Given the description of an element on the screen output the (x, y) to click on. 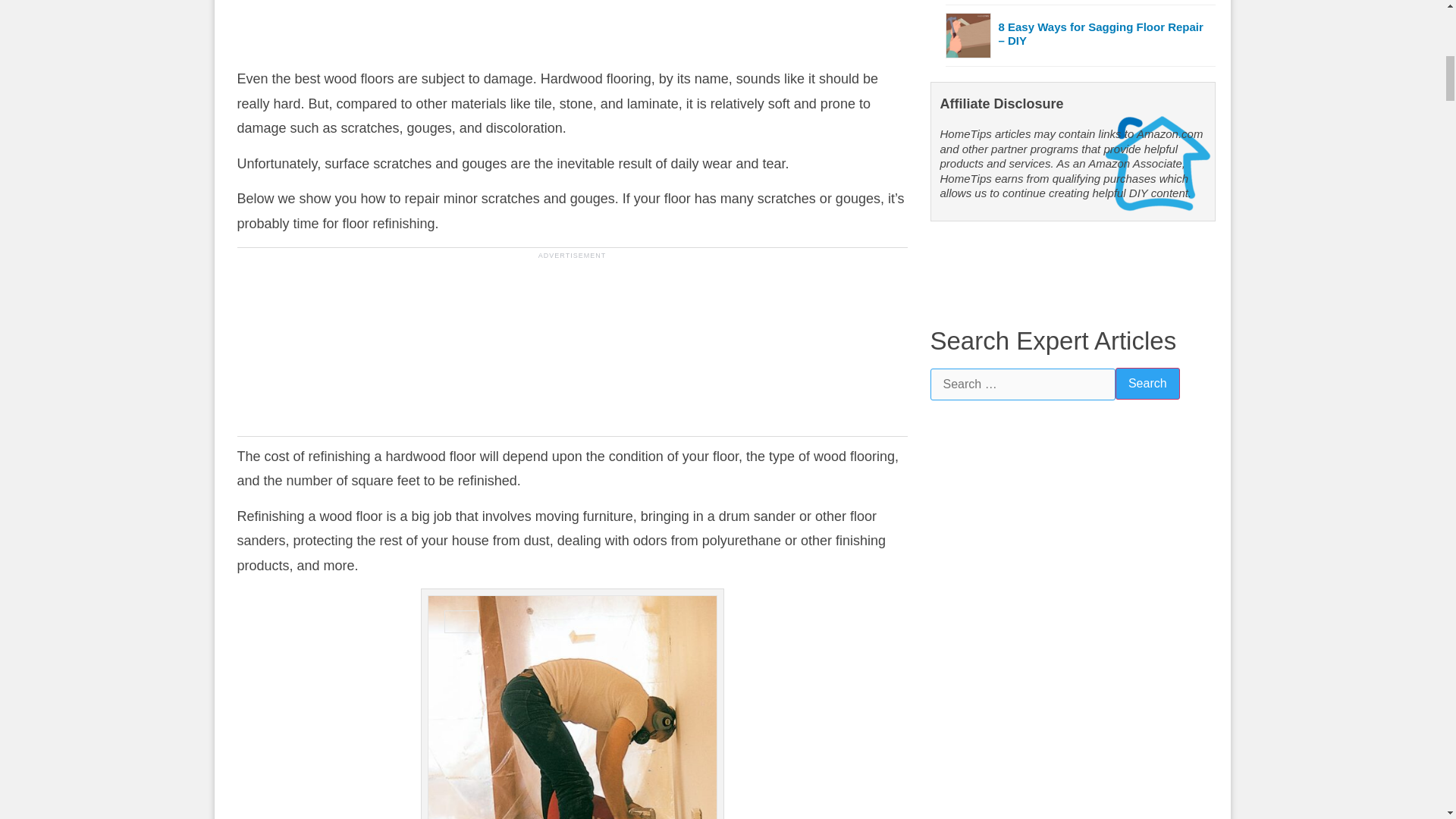
Search (1147, 383)
Search (1147, 383)
